Given the description of an element on the screen output the (x, y) to click on. 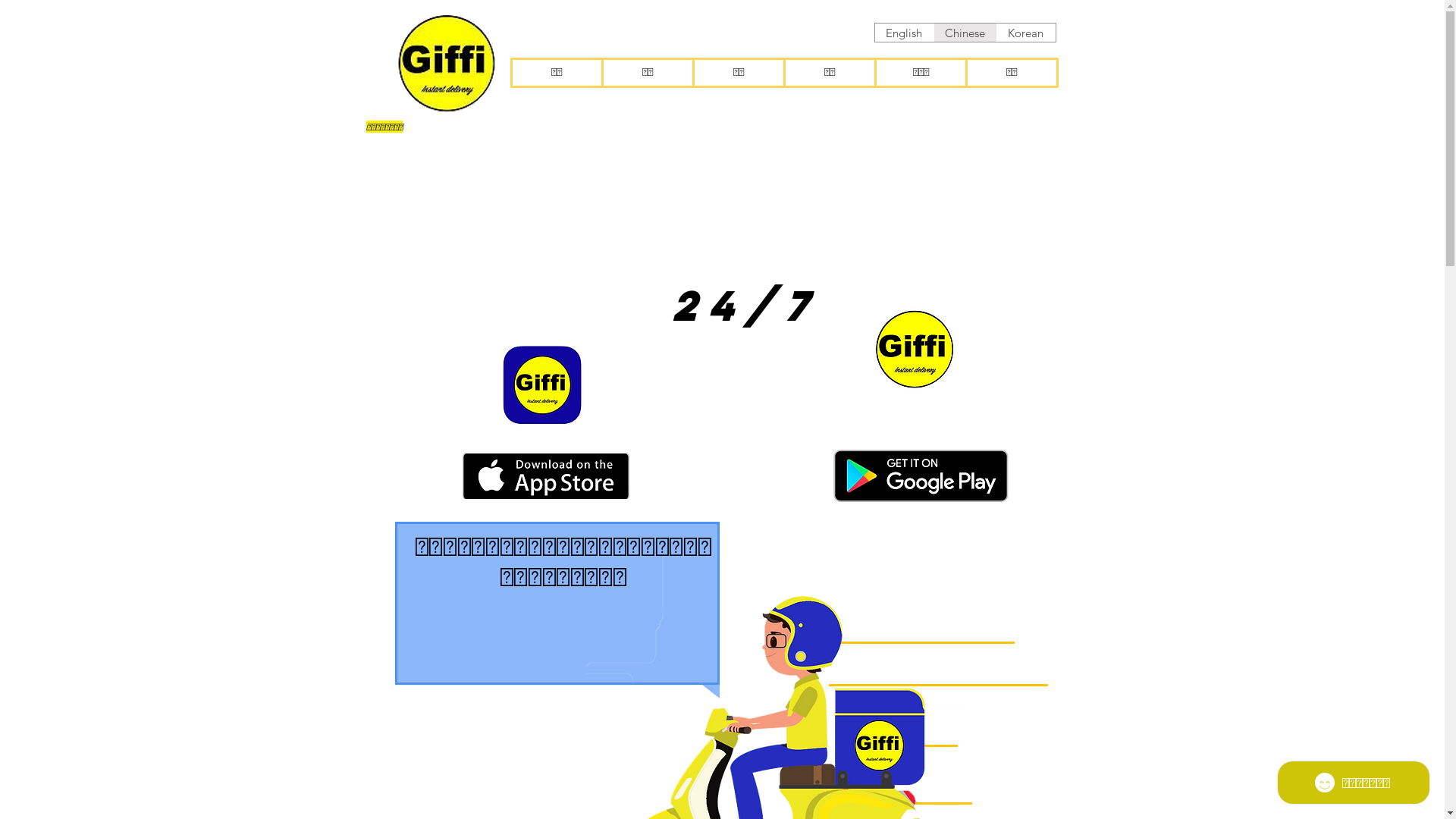
TWIPLA (Visitor Analytics) Element type: hover (1201, 441)
Chinese Element type: text (964, 32)
English Element type: text (904, 32)
Korean Element type: text (1025, 32)
